Given the description of an element on the screen output the (x, y) to click on. 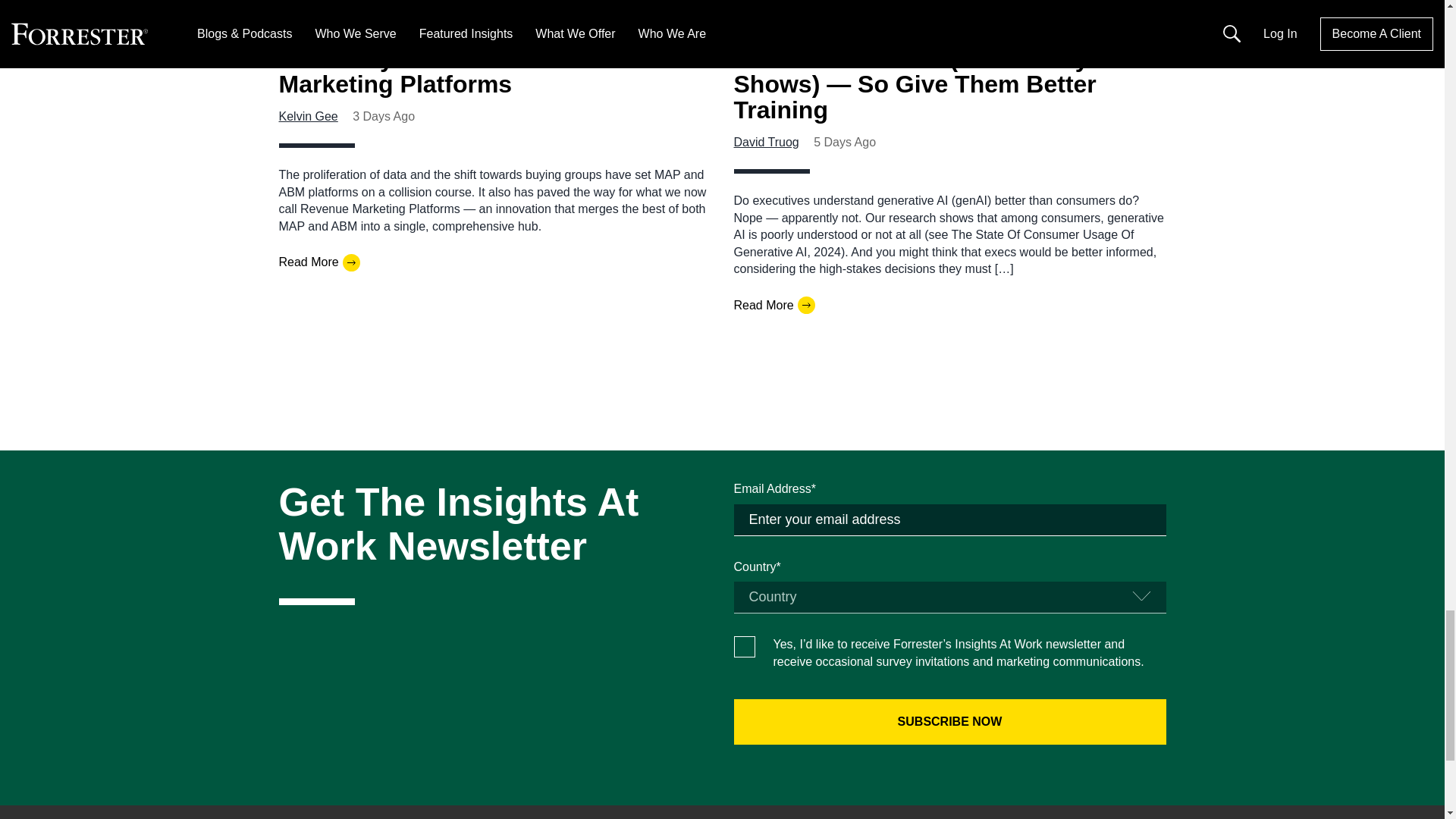
David Truog (766, 141)
Kelvin Gee (308, 115)
Subscribe Now (949, 721)
